Given the description of an element on the screen output the (x, y) to click on. 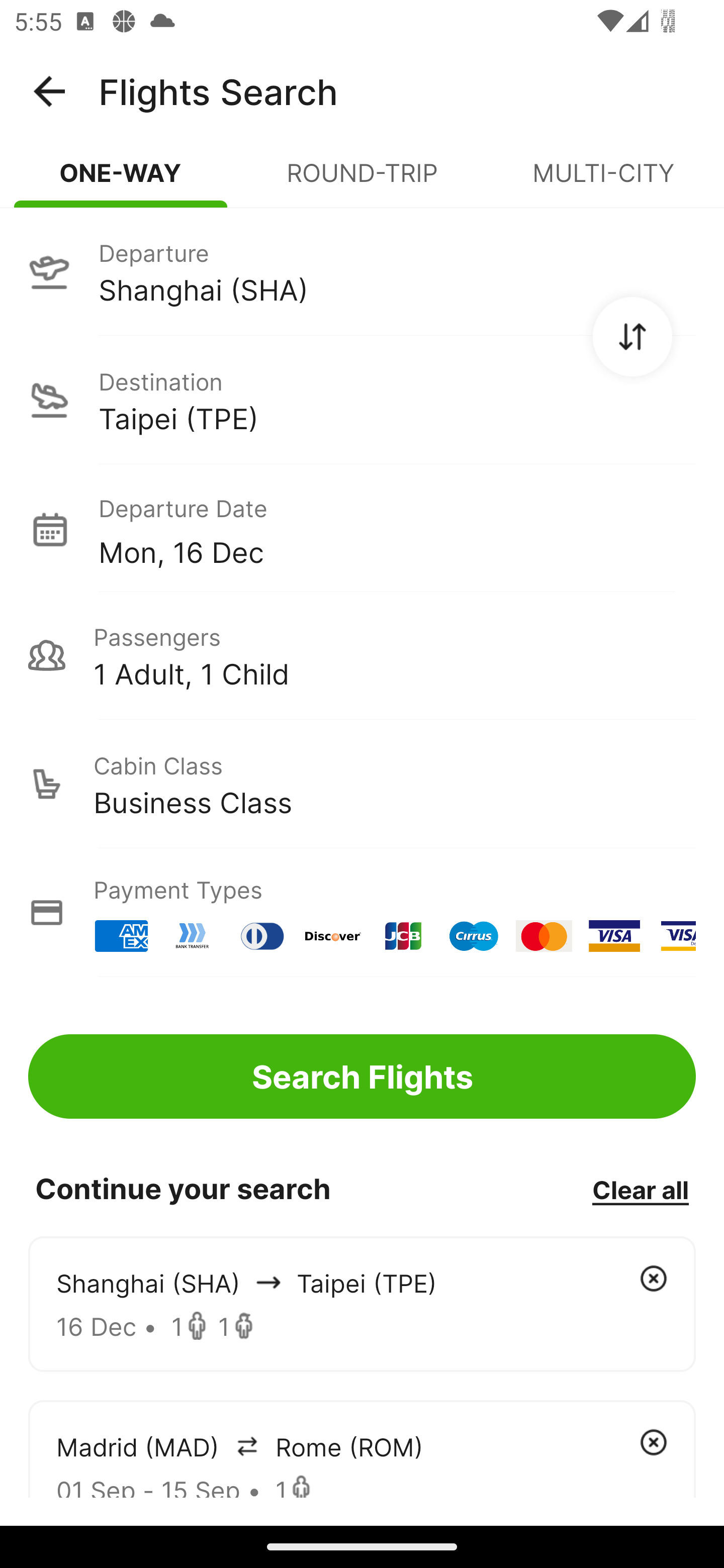
ONE-WAY (120, 180)
ROUND-TRIP (361, 180)
MULTI-CITY (603, 180)
Departure Shanghai (SHA) (362, 270)
Destination Taipei (TPE) (362, 400)
Departure Date Mon, 16 Dec (396, 528)
Passengers 1 Adult, 1 Child (362, 655)
Cabin Class Business Class (362, 783)
Payment Types (362, 912)
Search Flights (361, 1075)
Clear all (640, 1189)
